Given the description of an element on the screen output the (x, y) to click on. 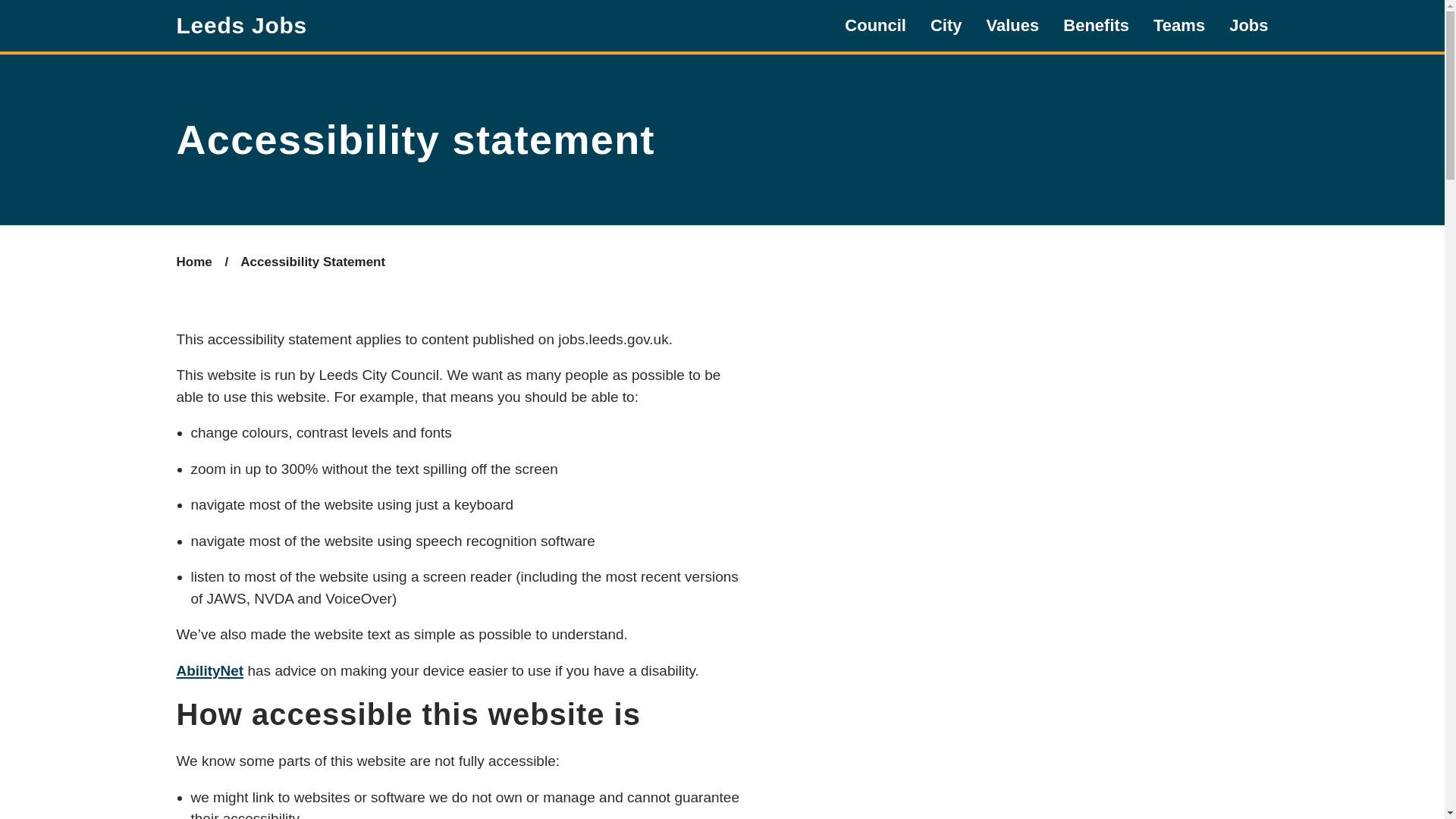
Leeds Jobs (241, 25)
Go to the homepage (241, 25)
Teams (1179, 25)
Council (874, 25)
Home (193, 261)
Values (1013, 25)
City (946, 25)
Benefits (1095, 25)
AbilityNet (209, 671)
Jobs (1248, 25)
